Given the description of an element on the screen output the (x, y) to click on. 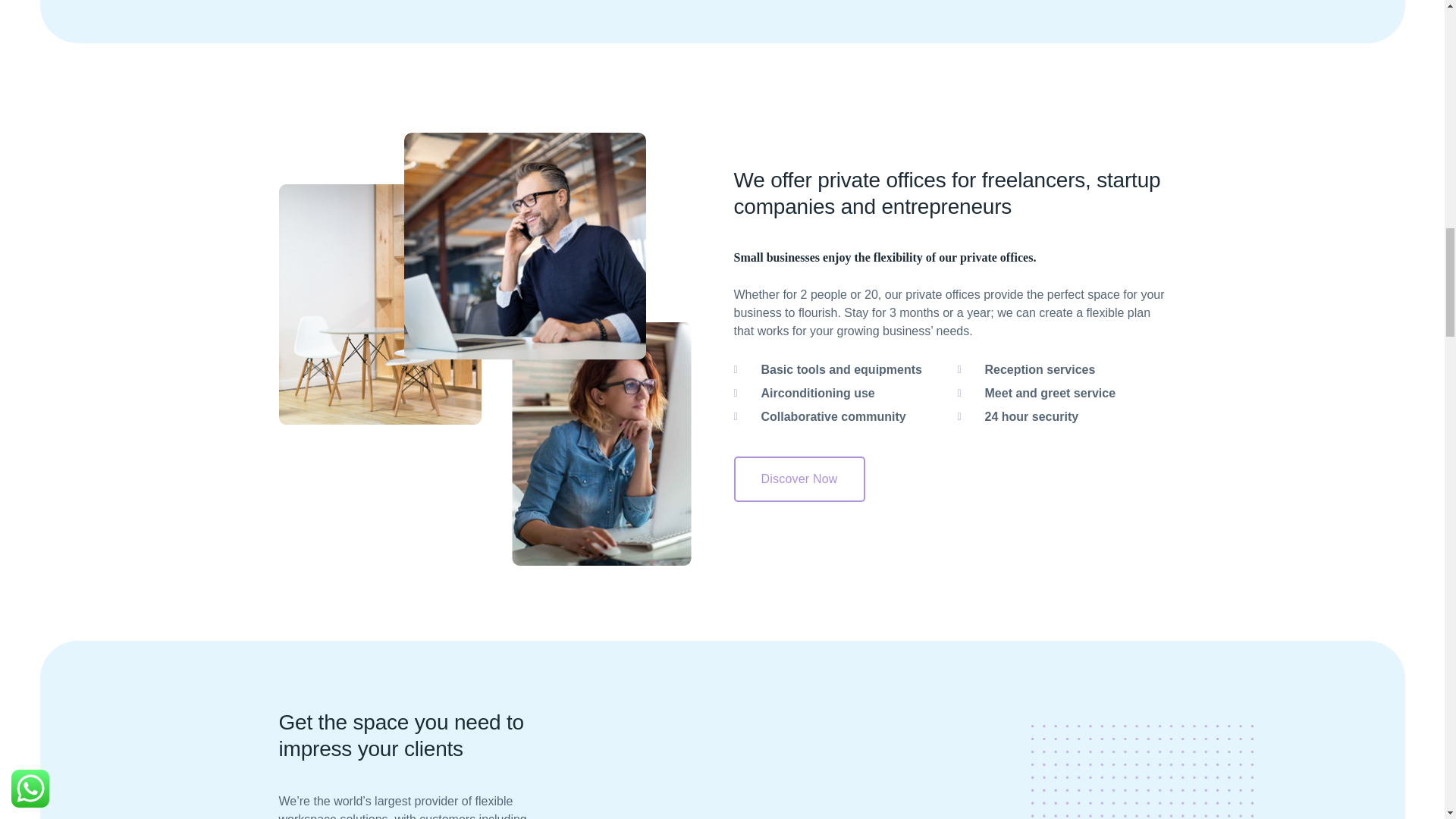
Discover Now (798, 479)
